Given the description of an element on the screen output the (x, y) to click on. 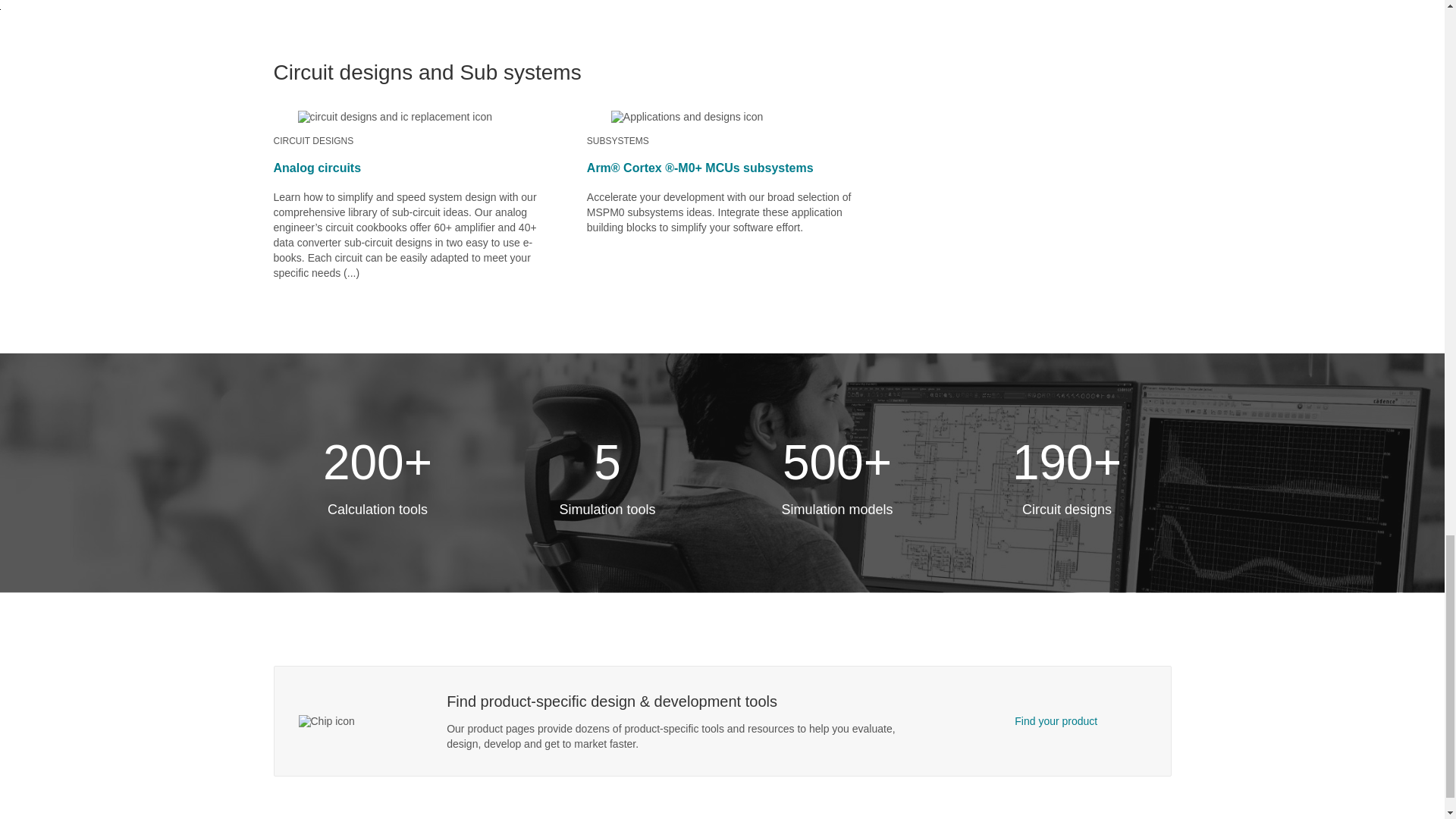
Analog circuits (317, 167)
Find your product (1055, 720)
